Given the description of an element on the screen output the (x, y) to click on. 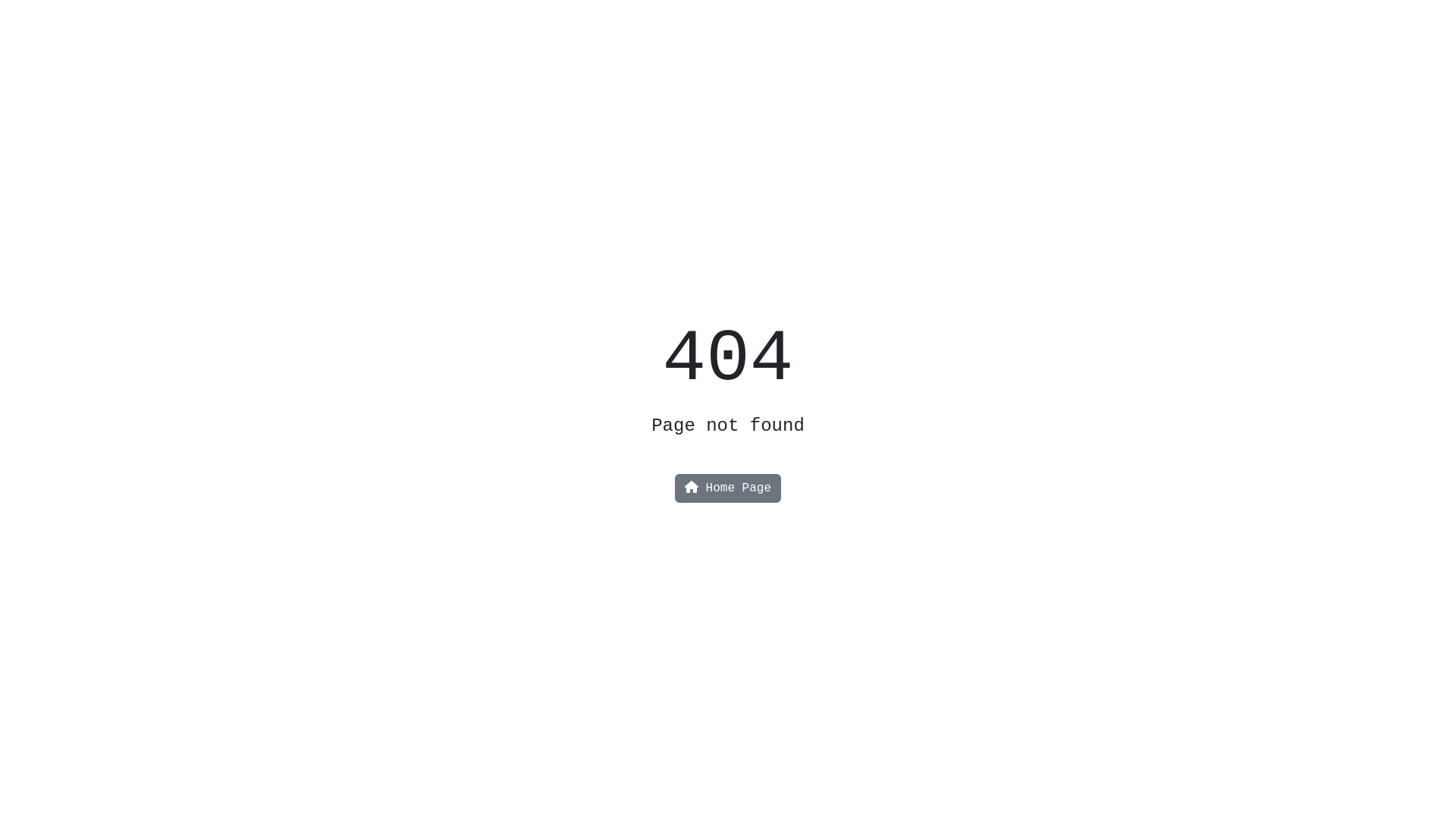
Home Page Element type: text (727, 487)
